Given the description of an element on the screen output the (x, y) to click on. 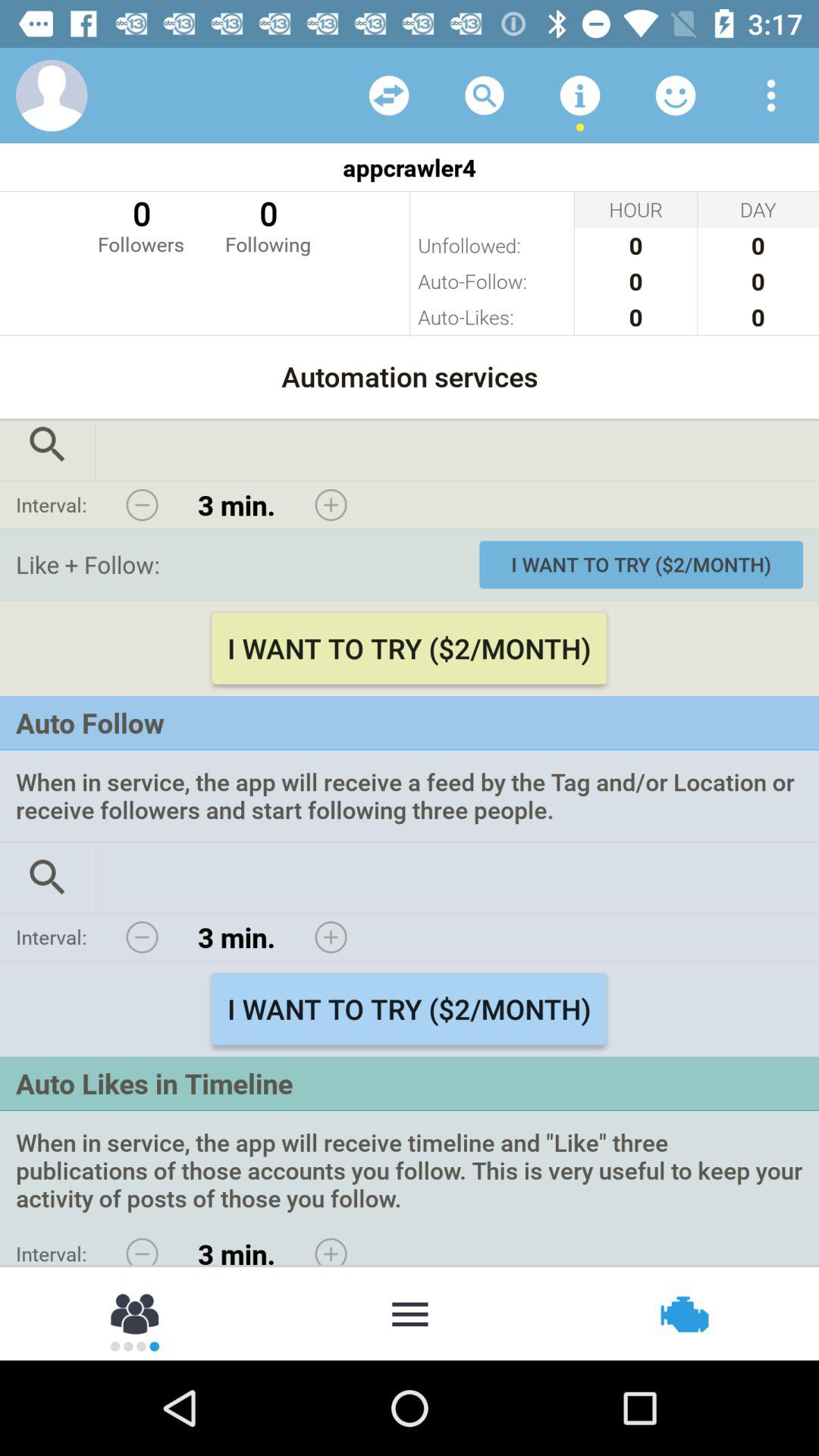
switch between forward and backward (388, 95)
